Given the description of an element on the screen output the (x, y) to click on. 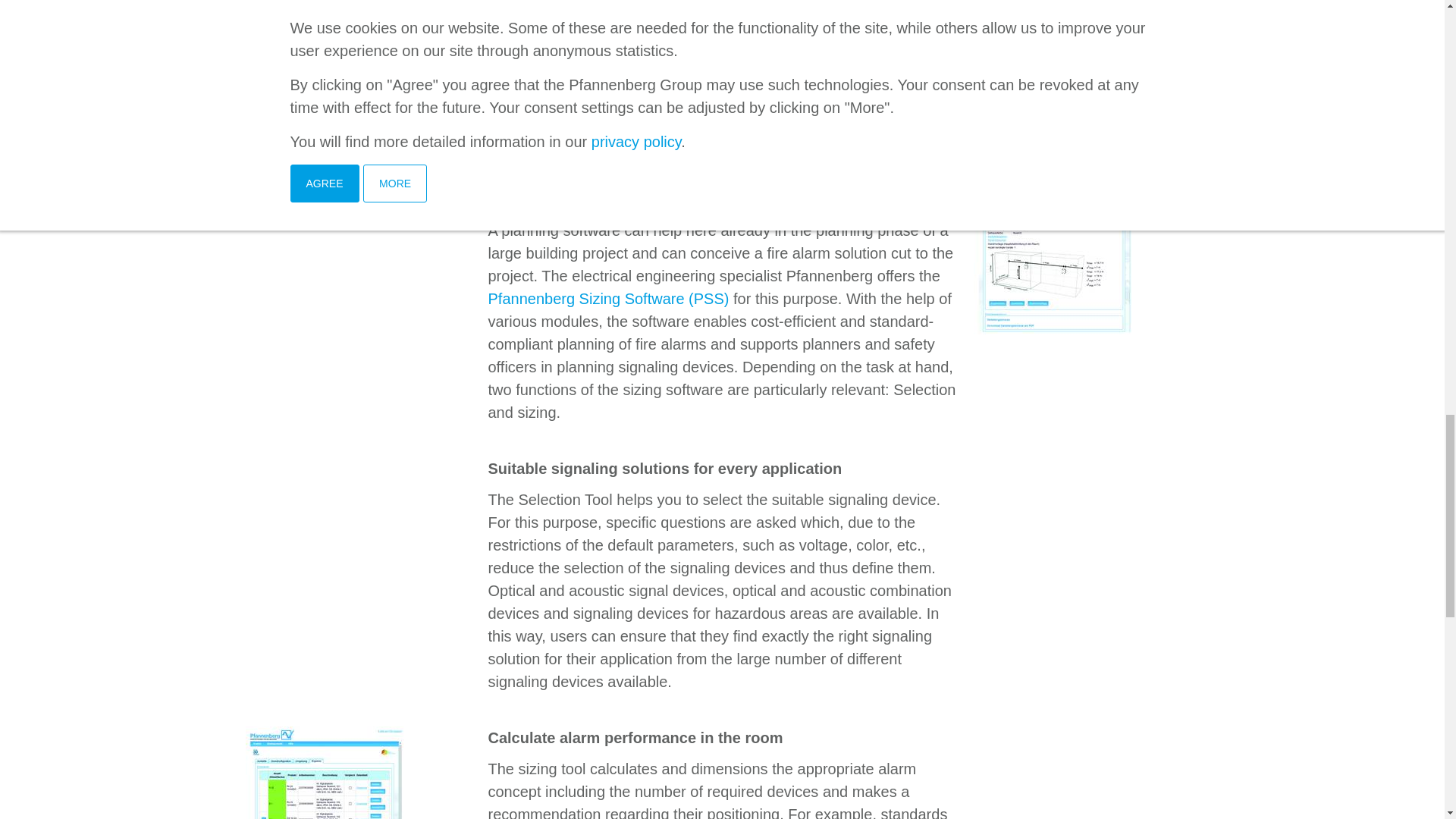
link to an internal page (608, 298)
